Given the description of an element on the screen output the (x, y) to click on. 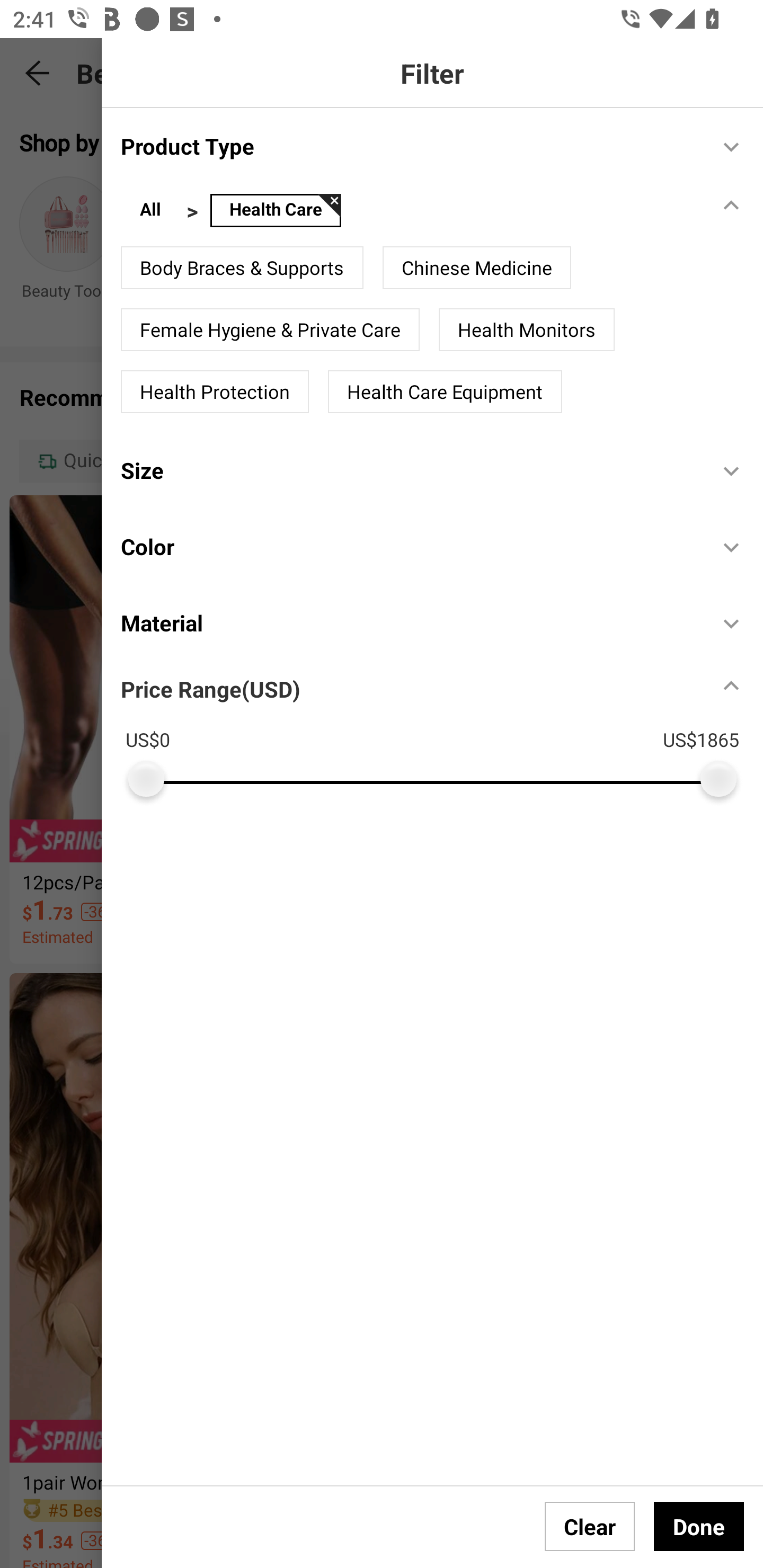
Beauty & Health change view Search Share (419, 72)
Product Type (409, 145)
All (150, 210)
> Health Care (263, 210)
Health Care (275, 210)
Body Braces & Supports (241, 267)
Chinese Medicine (476, 267)
Female Hygiene & Private Care (269, 329)
Health Monitors (526, 329)
Health Protection (214, 391)
Health Care Equipment (445, 391)
Size (409, 470)
Color (409, 546)
Material (409, 622)
Price Range(USD) US$0 US$1865 (441, 728)
Price Range(USD) (210, 689)
Clear (589, 1526)
Done (698, 1526)
